Given the description of an element on the screen output the (x, y) to click on. 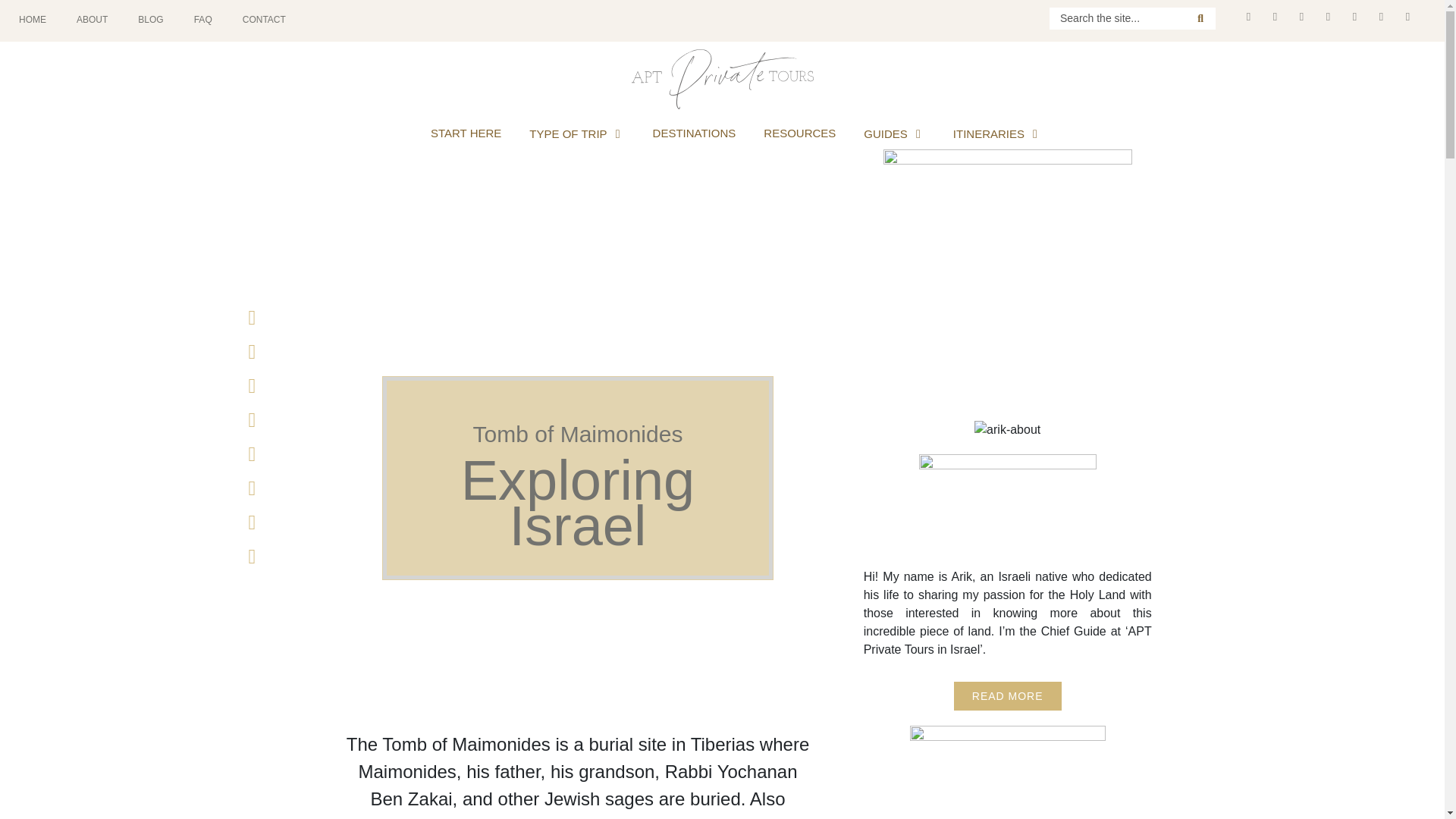
CONTACT (264, 19)
HOME (32, 19)
arik-about (1007, 429)
BLOG (149, 19)
FAQ (203, 19)
START HERE (465, 132)
ABOUT (91, 19)
TYPE OF TRIP (568, 133)
